Given the description of an element on the screen output the (x, y) to click on. 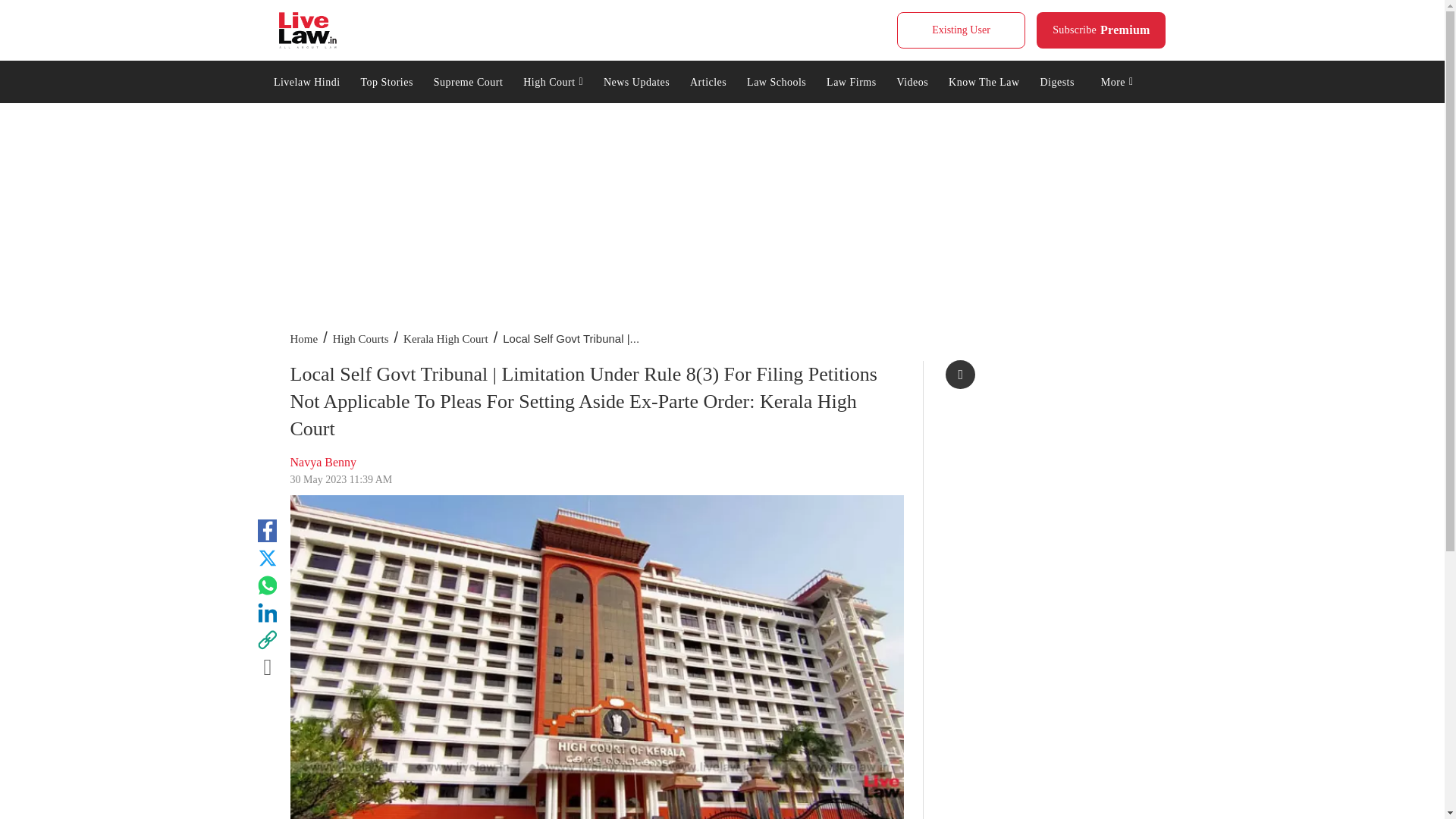
Livelaw Hindi (306, 80)
Live Law (1101, 30)
Top Stories (307, 30)
Existing User (386, 80)
Supreme Court (960, 30)
High Court (467, 80)
